Given the description of an element on the screen output the (x, y) to click on. 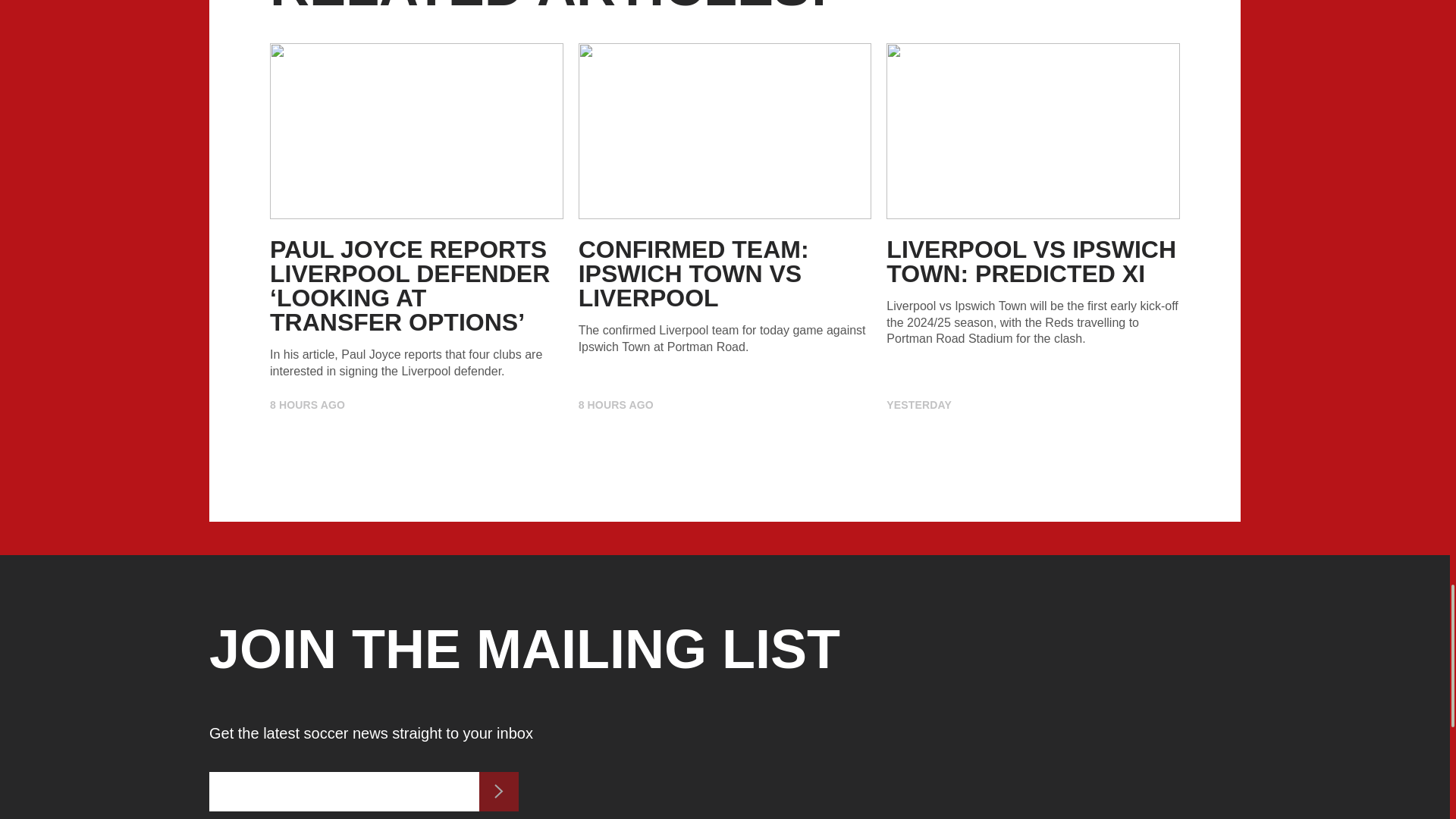
CONFIRMED TEAM: IPSWICH TOWN VS LIVERPOOL (693, 273)
LIVERPOOL VS IPSWICH TOWN: PREDICTED XI (1031, 261)
SUBSCRIBE (498, 791)
